Given the description of an element on the screen output the (x, y) to click on. 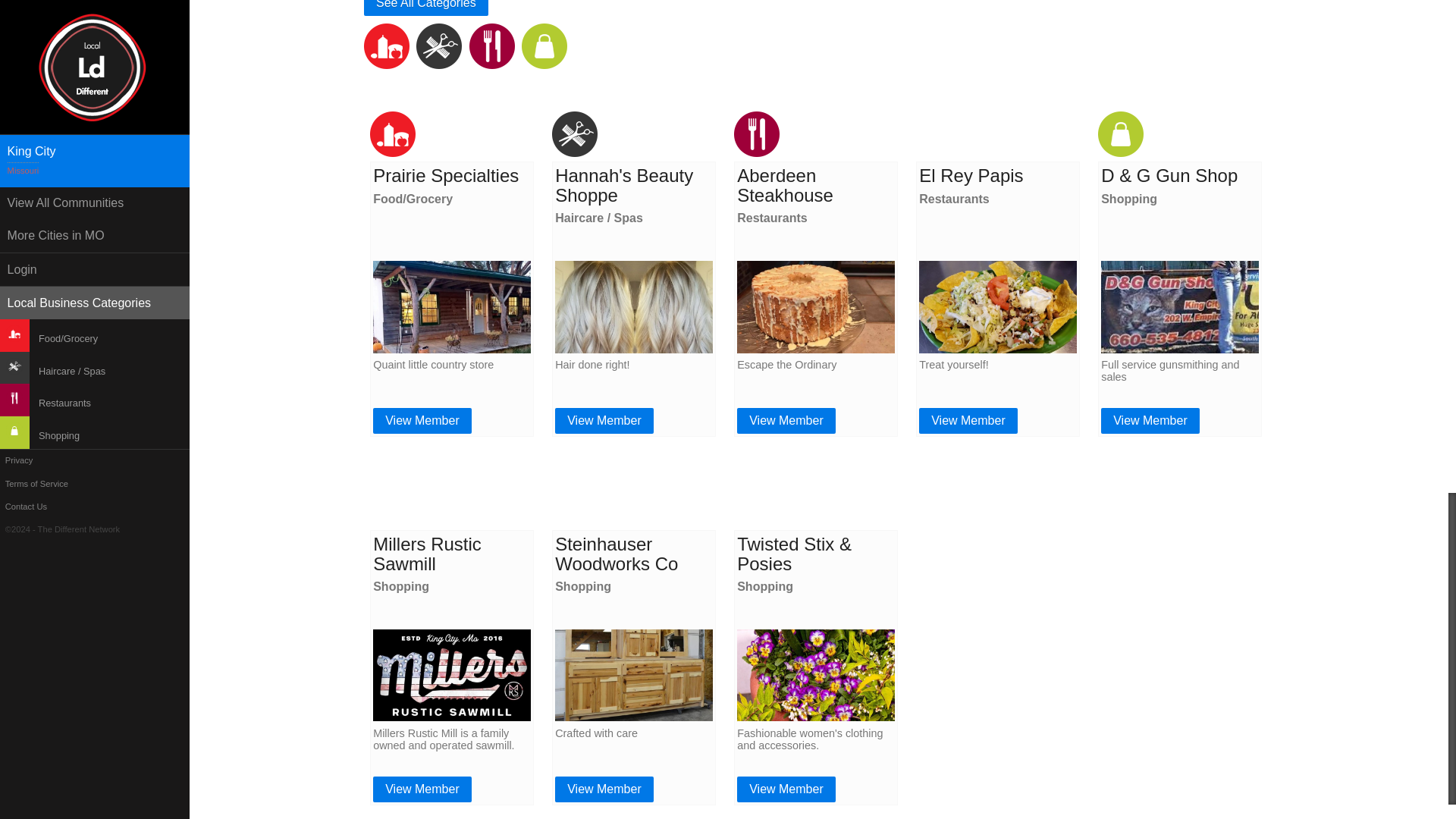
Show buttons to jump to listings by category (425, 7)
View Member (603, 420)
View Member (785, 420)
Jump to Restaurants (491, 64)
See All Categories (425, 7)
View Member (421, 420)
View Member (967, 420)
